Given the description of an element on the screen output the (x, y) to click on. 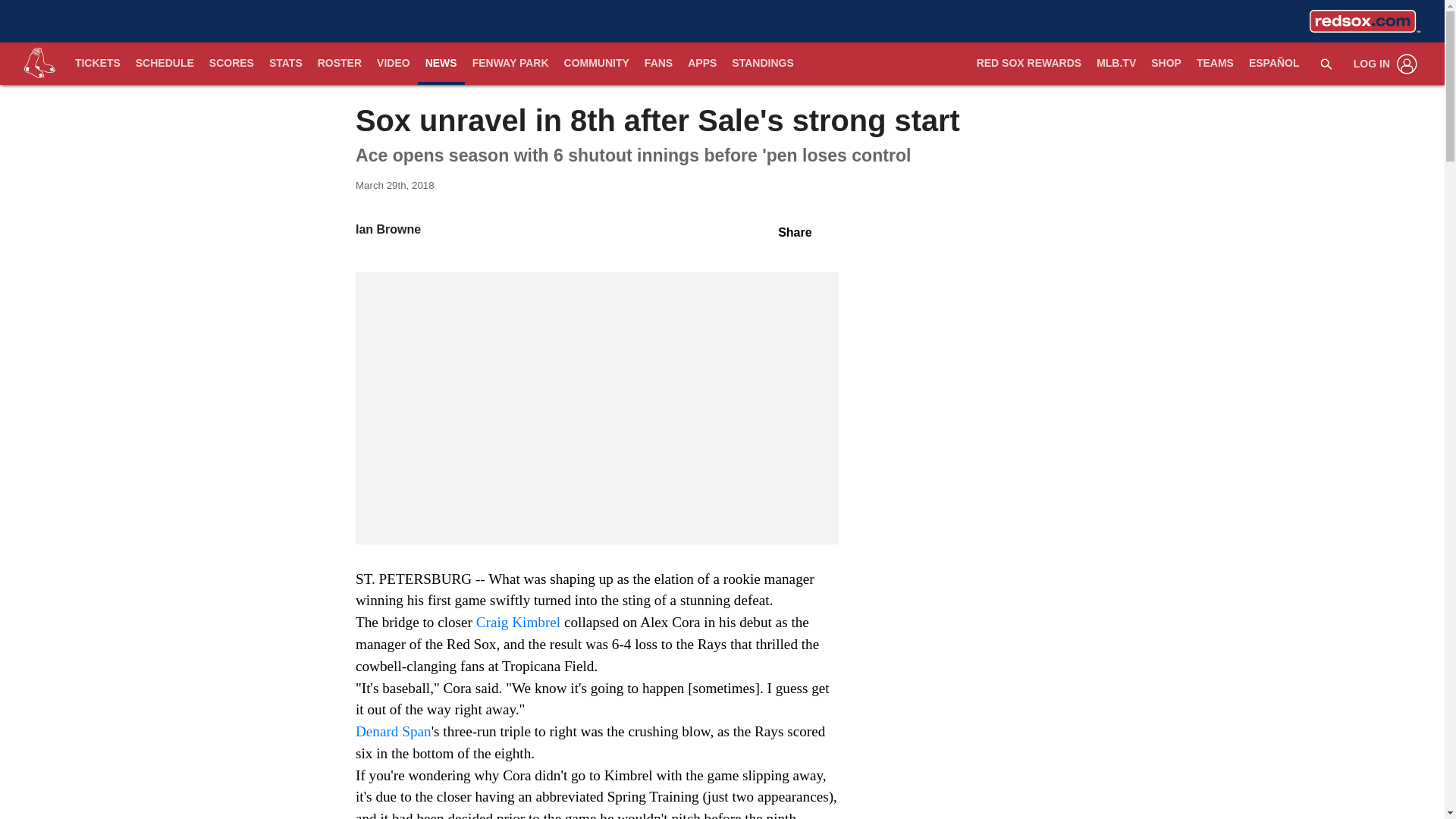
SCHEDULE (165, 63)
STATS (286, 63)
TICKETS (97, 63)
search-184260 (1326, 63)
ROSTER (339, 63)
SCORES (232, 63)
